Given the description of an element on the screen output the (x, y) to click on. 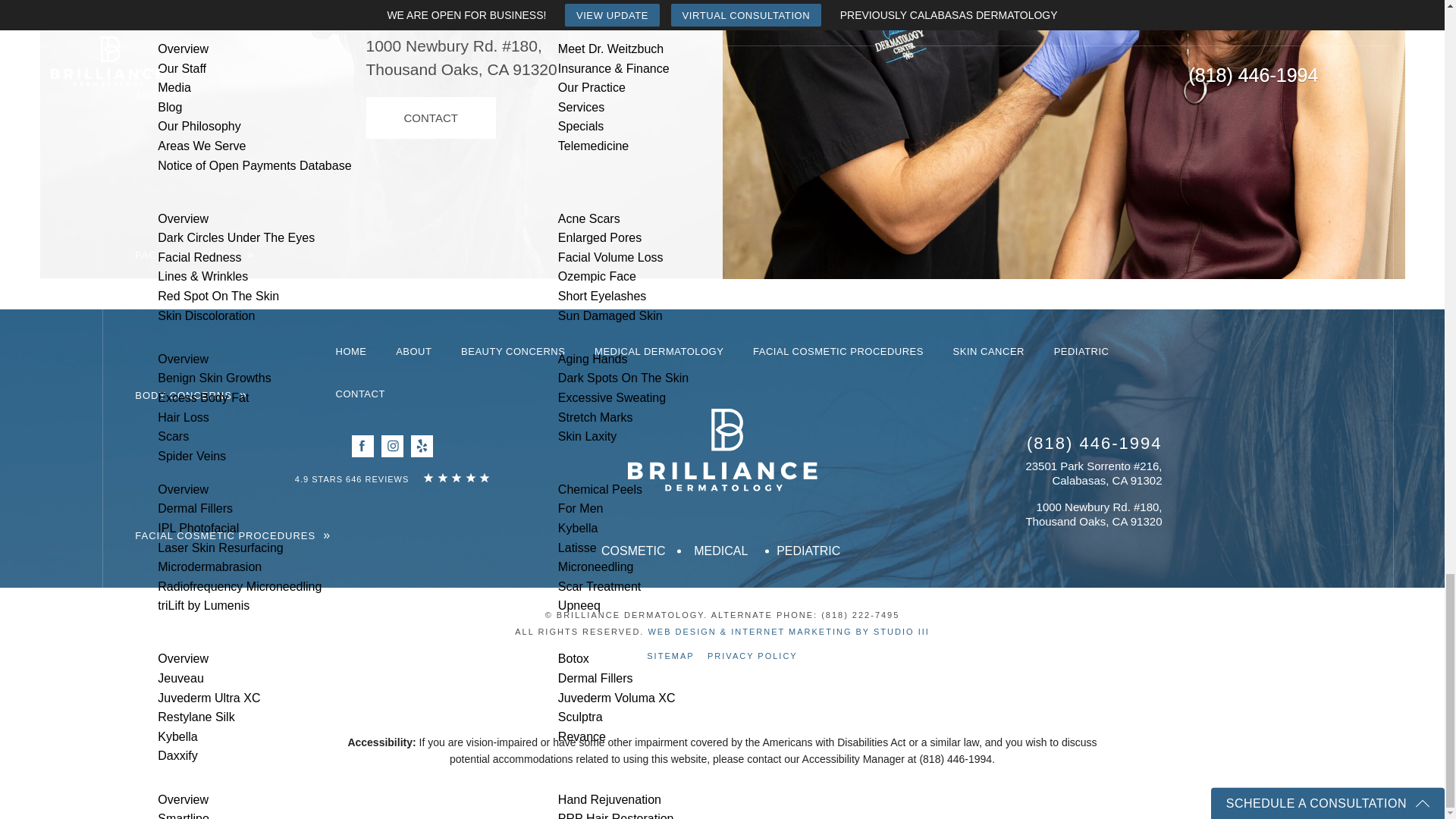
5.0 out of 5 stars (353, 479)
